Given the description of an element on the screen output the (x, y) to click on. 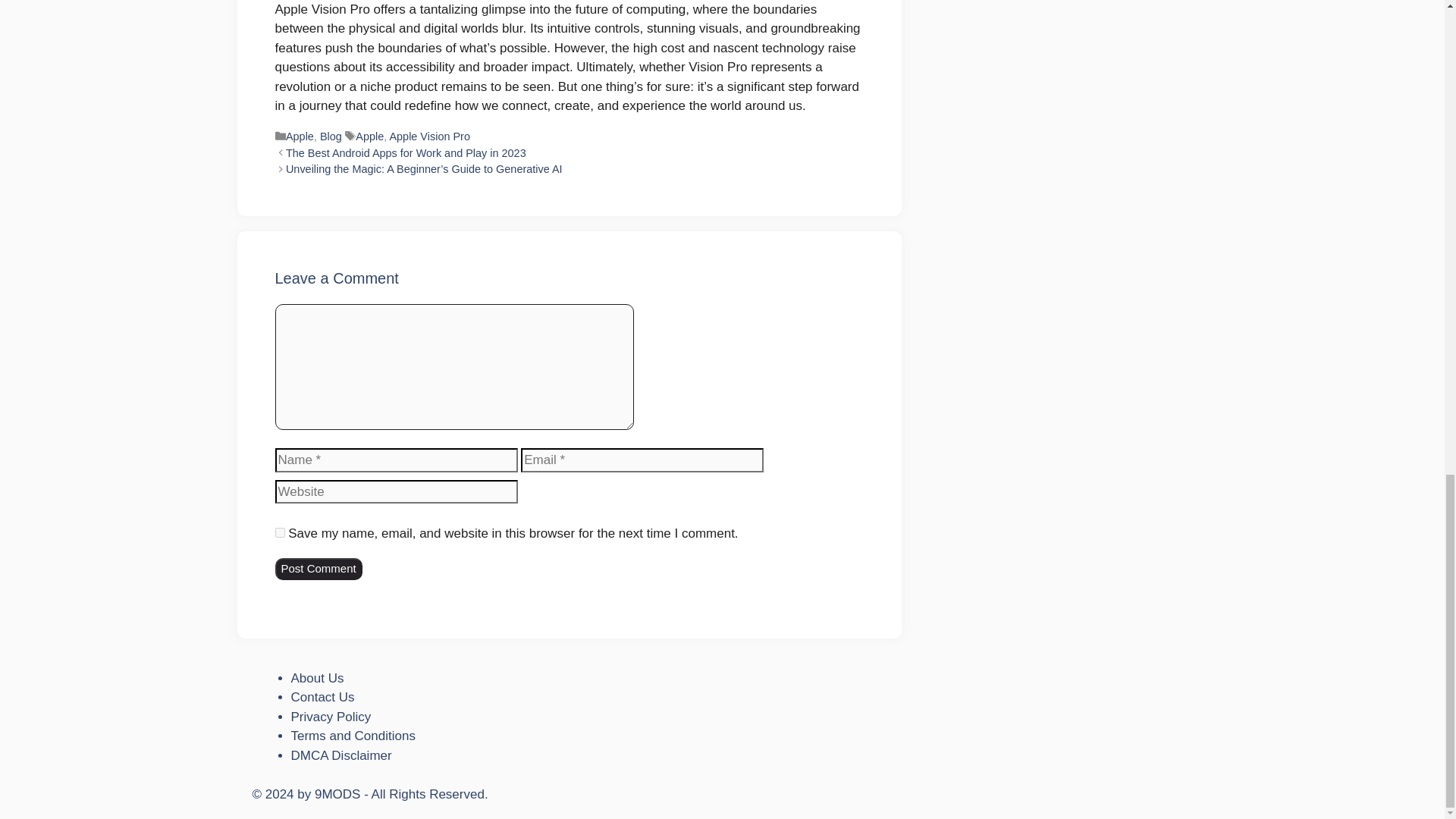
9MODS (336, 794)
Apple (369, 136)
Terms and Conditions (352, 735)
Contact Us (323, 697)
Post Comment (318, 568)
DMCA Disclaimer (341, 755)
Post Comment (318, 568)
The Best Android Apps for Work and Play in 2023 (405, 152)
Privacy Policy (331, 716)
yes (279, 532)
Blog (331, 136)
Apple (299, 136)
About Us (317, 677)
Apple Vision Pro (428, 136)
